Given the description of an element on the screen output the (x, y) to click on. 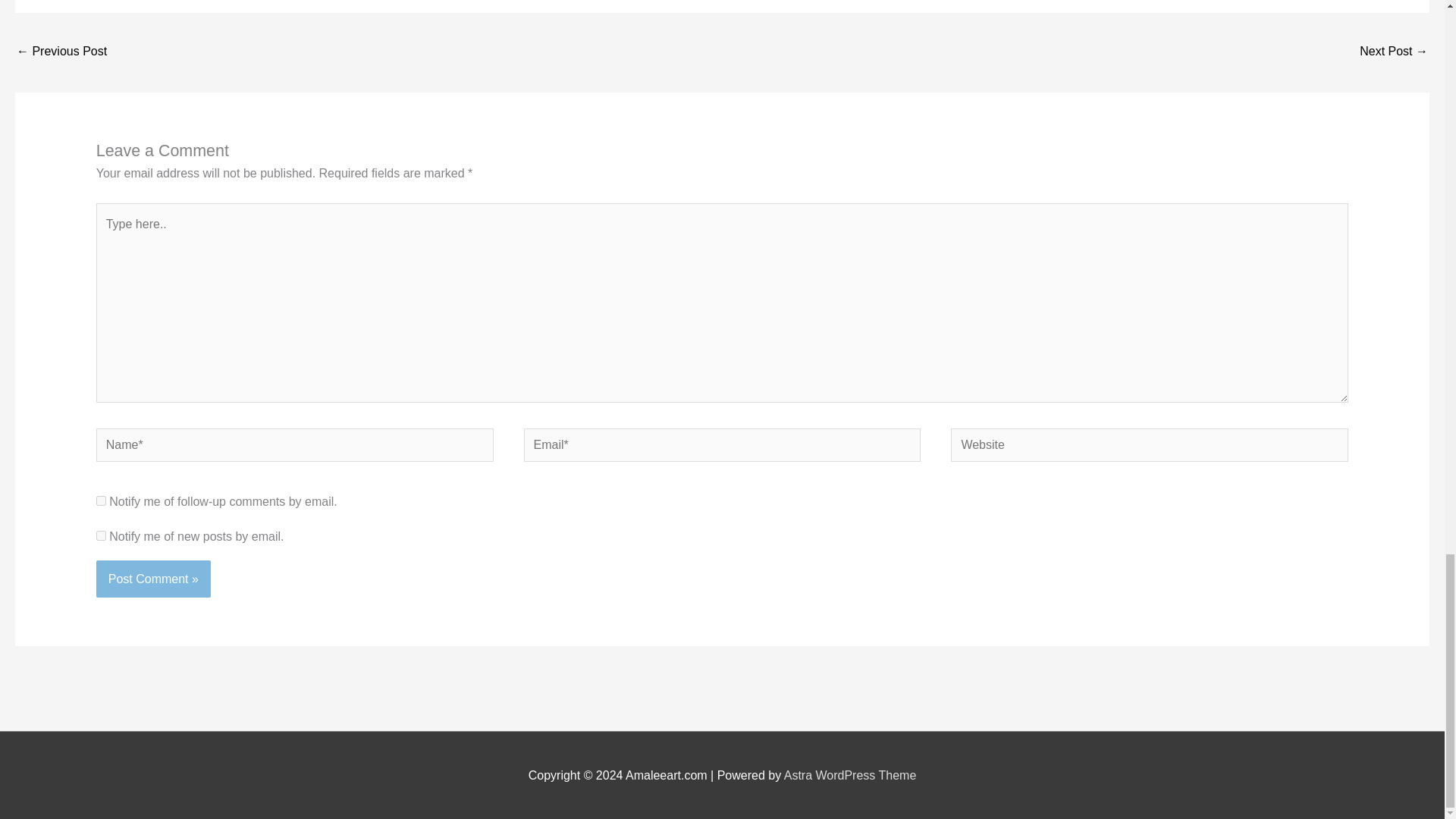
"Angela"-A new Amalee Original! (61, 52)
Hope and nihilism (1393, 52)
subscribe (101, 501)
subscribe (101, 535)
Astra WordPress Theme (850, 775)
